Given the description of an element on the screen output the (x, y) to click on. 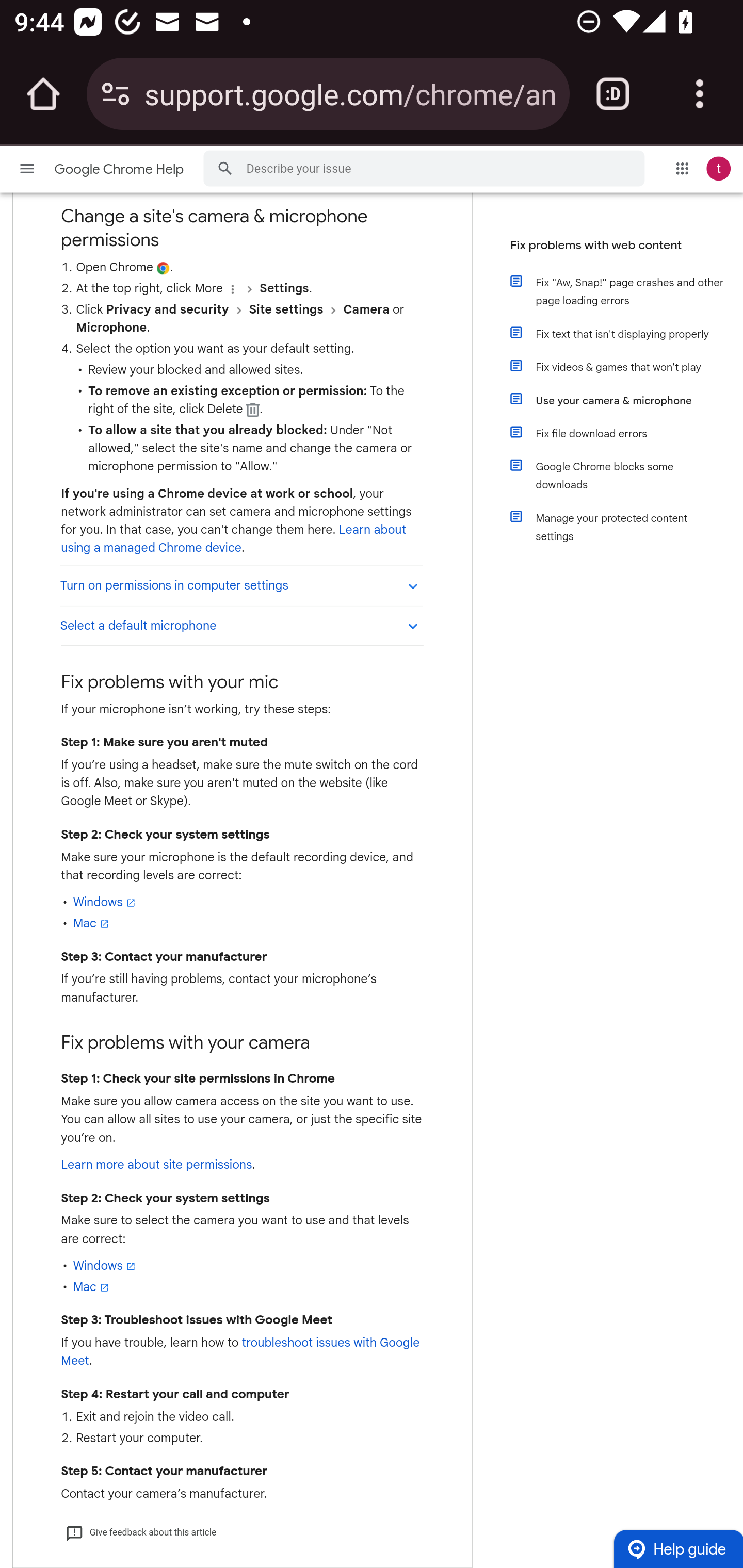
Open the home page (43, 93)
Connection is secure (115, 93)
Switch or close tabs (612, 93)
Customize and control Google Chrome (699, 93)
Main menu (27, 168)
Google Chrome Help (120, 169)
Search Help Center (224, 168)
Google apps (681, 168)
Fix text that isn't displaying properly (626, 334)
Fix videos & games that won't play (626, 367)
Use your camera & microphone (626, 400)
Fix file download errors (626, 434)
Google Chrome blocks some downloads (626, 475)
Manage your protected content settings (626, 527)
Learn about using a managed Chrome device (233, 539)
Turn on permissions in computer settings (240, 586)
Select a default microphone (240, 625)
Windows (104, 902)
Mac (91, 923)
Learn more about site permissions (156, 1164)
Windows (104, 1265)
Mac (91, 1286)
troubleshoot issues with Google Meet (239, 1351)
Give feedback about this article (140, 1531)
Help guide (677, 1549)
